Given the description of an element on the screen output the (x, y) to click on. 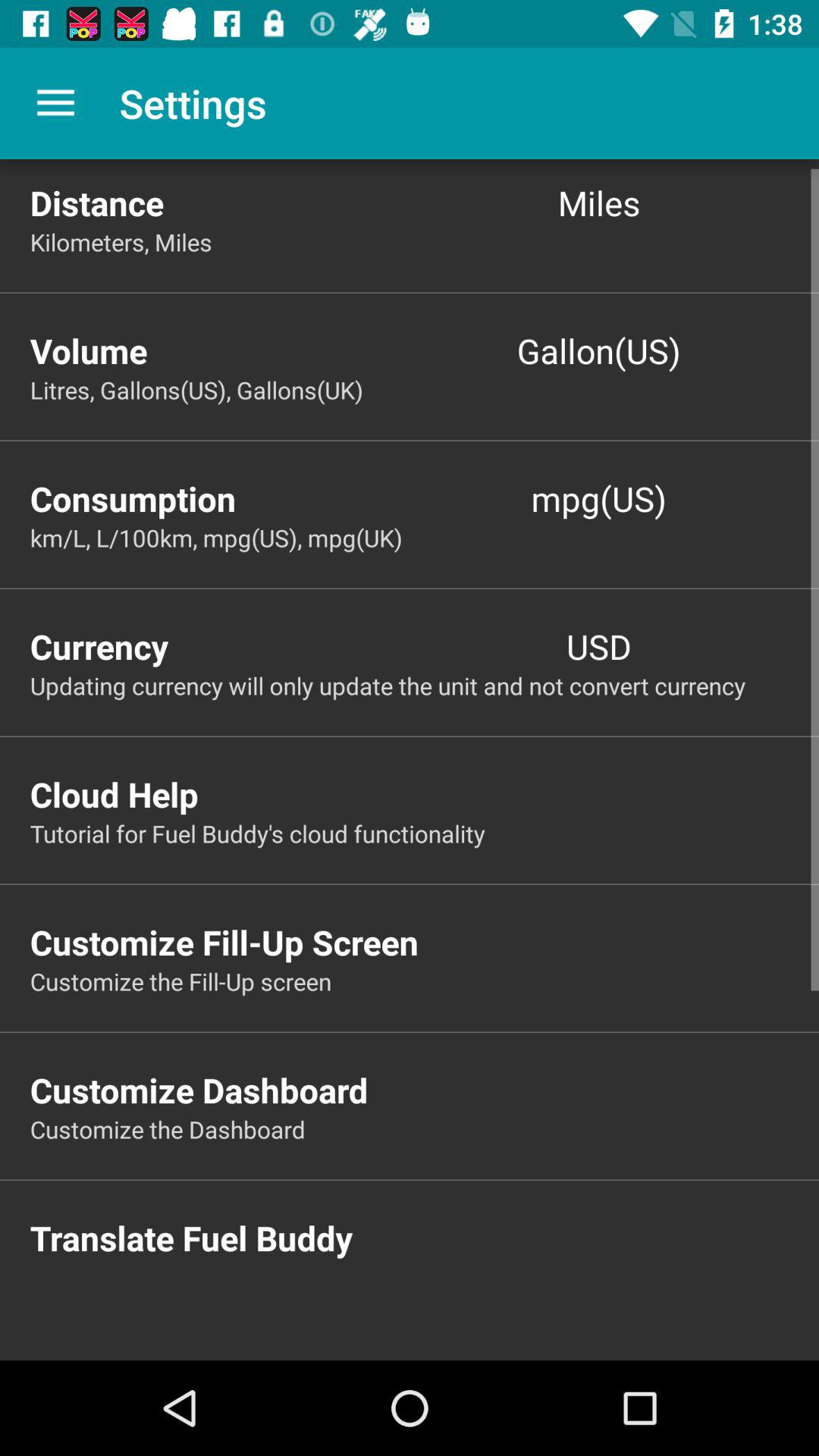
click the item below distance icon (424, 241)
